Given the description of an element on the screen output the (x, y) to click on. 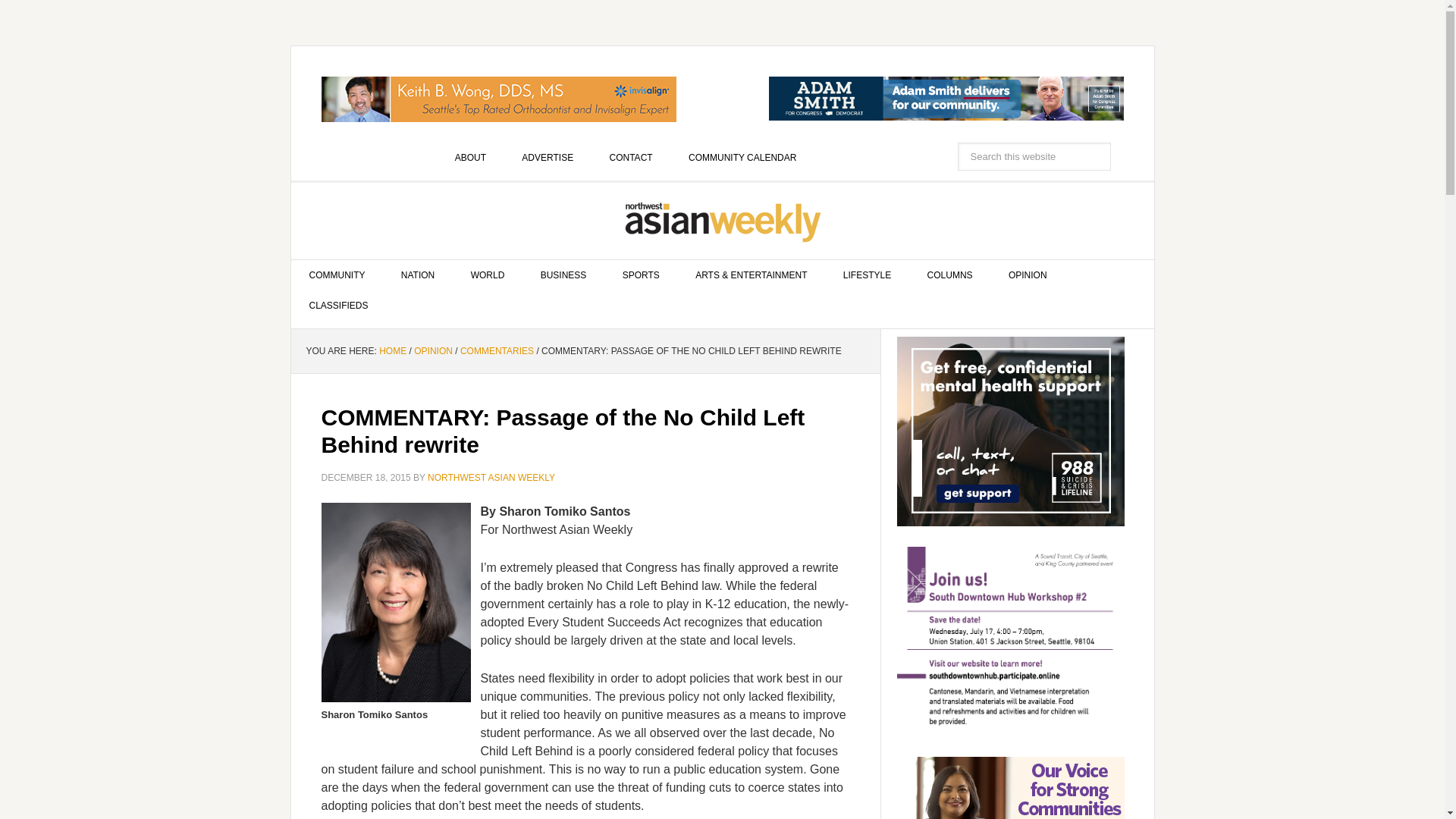
CONTACT (631, 157)
BUSINESS (563, 275)
COMMUNITY (337, 275)
WORLD (487, 275)
SPORTS (641, 275)
ABOUT (469, 157)
NORTHWEST ASIAN WEEKLY (722, 221)
OPINION (432, 350)
LIFESTYLE (866, 275)
NORTHWEST ASIAN WEEKLY (491, 477)
COMMENTARIES (497, 350)
COLUMNS (949, 275)
COMMUNITY CALENDAR (741, 157)
